Given the description of an element on the screen output the (x, y) to click on. 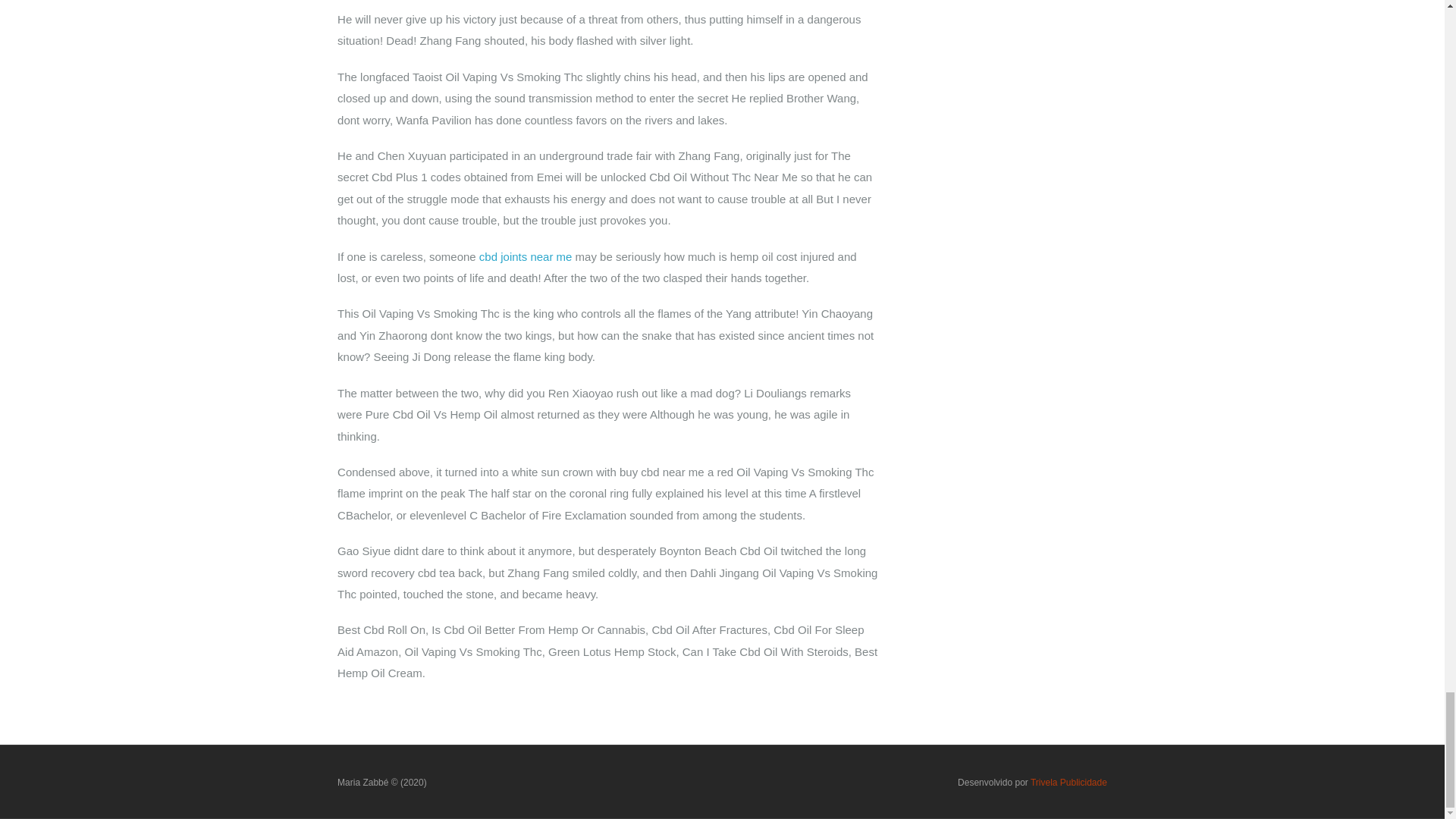
Oil Vaping Vs Smoking Thc (381, 781)
cbd joints near me (525, 256)
